Given the description of an element on the screen output the (x, y) to click on. 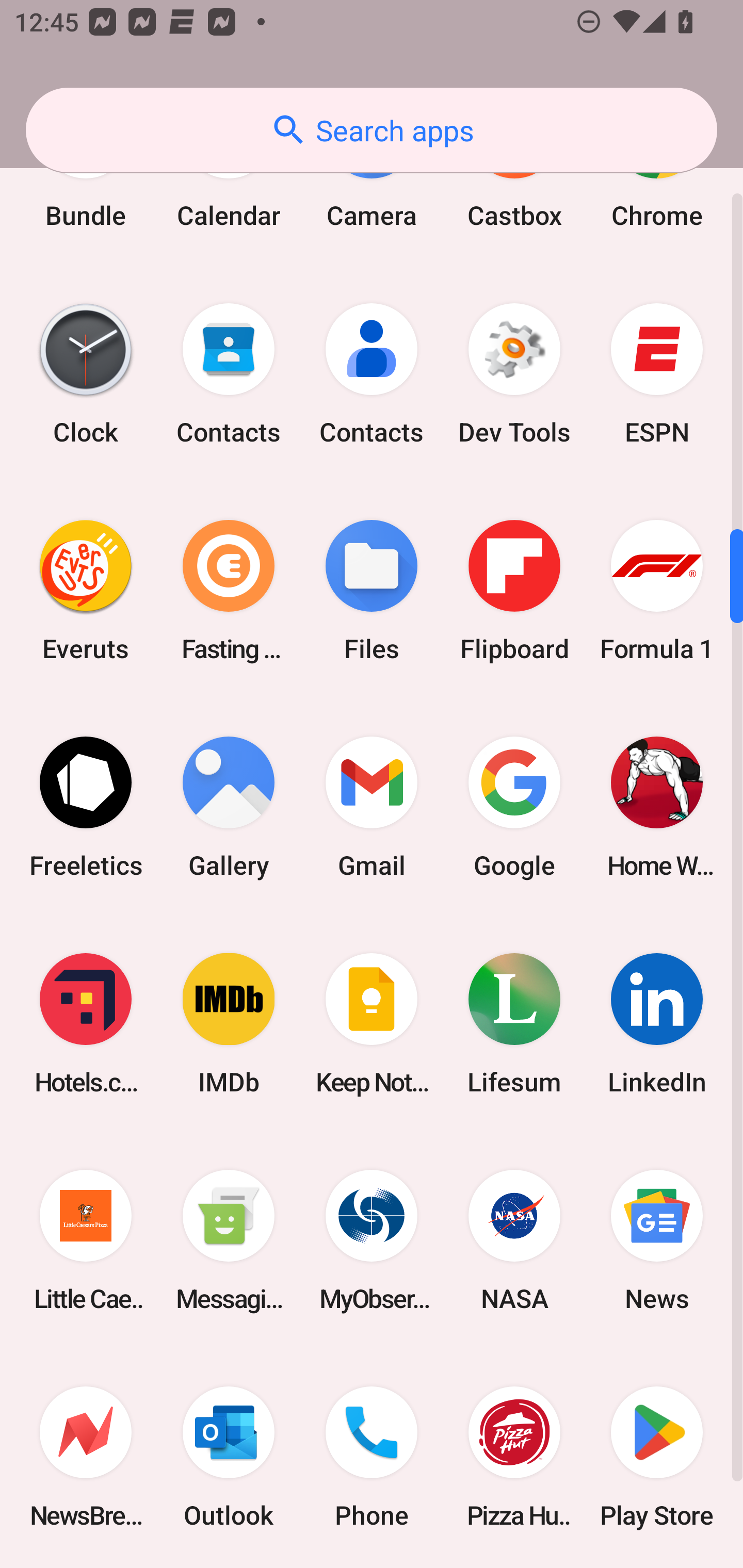
  Search apps (371, 130)
Clock (85, 373)
Contacts (228, 373)
Contacts (371, 373)
Dev Tools (514, 373)
ESPN (656, 373)
Everuts (85, 590)
Fasting Coach (228, 590)
Files (371, 590)
Flipboard (514, 590)
Formula 1 (656, 590)
Freeletics (85, 807)
Gallery (228, 807)
Gmail (371, 807)
Google (514, 807)
Home Workout (656, 807)
Hotels.com (85, 1023)
IMDb (228, 1023)
Keep Notes (371, 1023)
Lifesum (514, 1023)
LinkedIn (656, 1023)
Little Caesars Pizza (85, 1240)
Messaging (228, 1240)
MyObservatory (371, 1240)
NASA (514, 1240)
News (656, 1240)
NewsBreak (85, 1456)
Outlook (228, 1456)
Phone (371, 1456)
Pizza Hut HK & Macau (514, 1456)
Play Store (656, 1456)
